Given the description of an element on the screen output the (x, y) to click on. 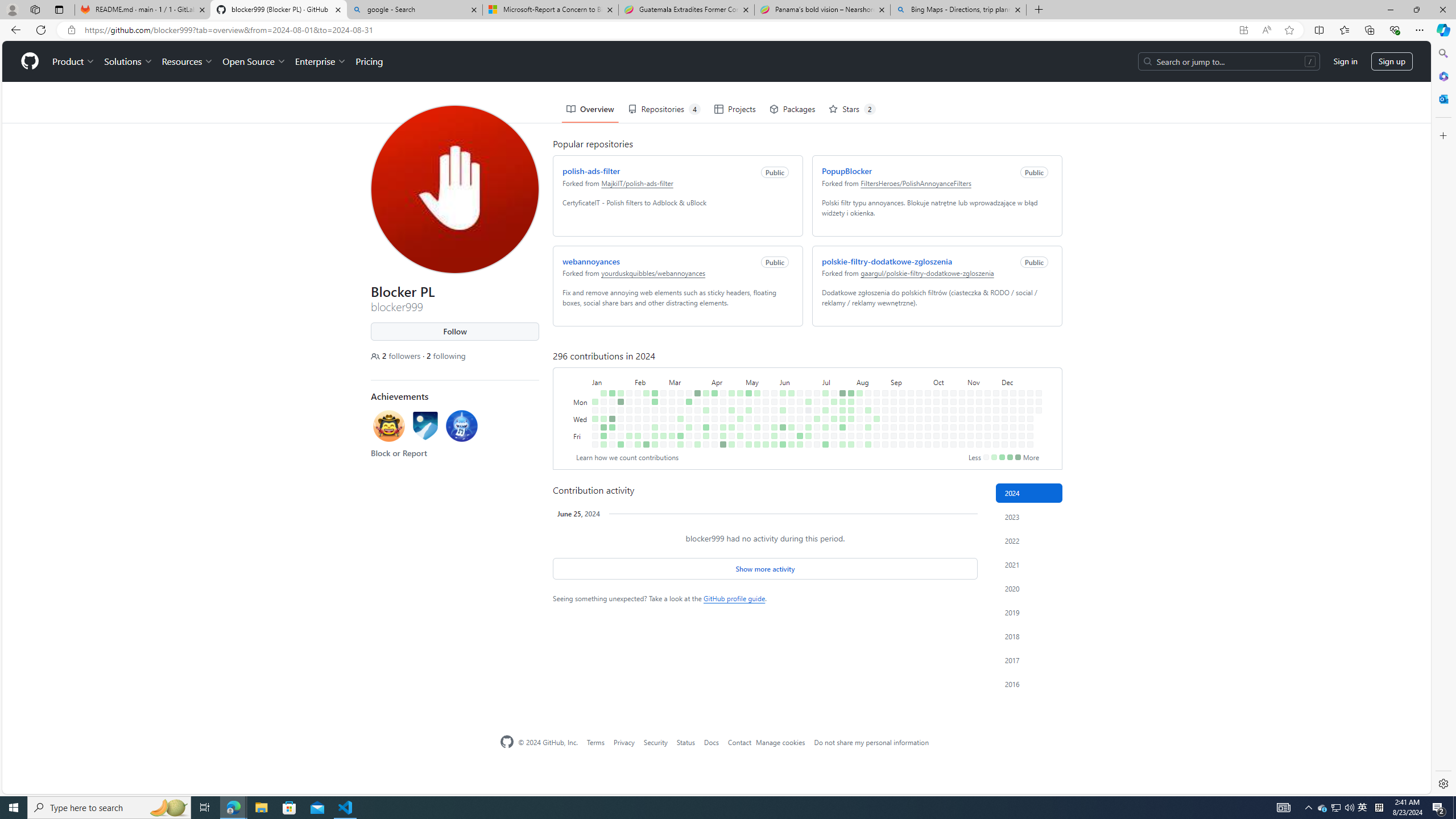
5 contributions on February 19th. (652, 360)
2 contributions on May 1st. (738, 377)
Contribution activity in 2018 (1028, 636)
No contributions on May 9th. (746, 386)
2 contributions on May 12th. (754, 351)
Pricing (366, 20)
No contributions on January 8th. (601, 360)
No contributions on October 27th. (959, 351)
2016 (1028, 683)
Repositories 4 (661, 67)
